Given the description of an element on the screen output the (x, y) to click on. 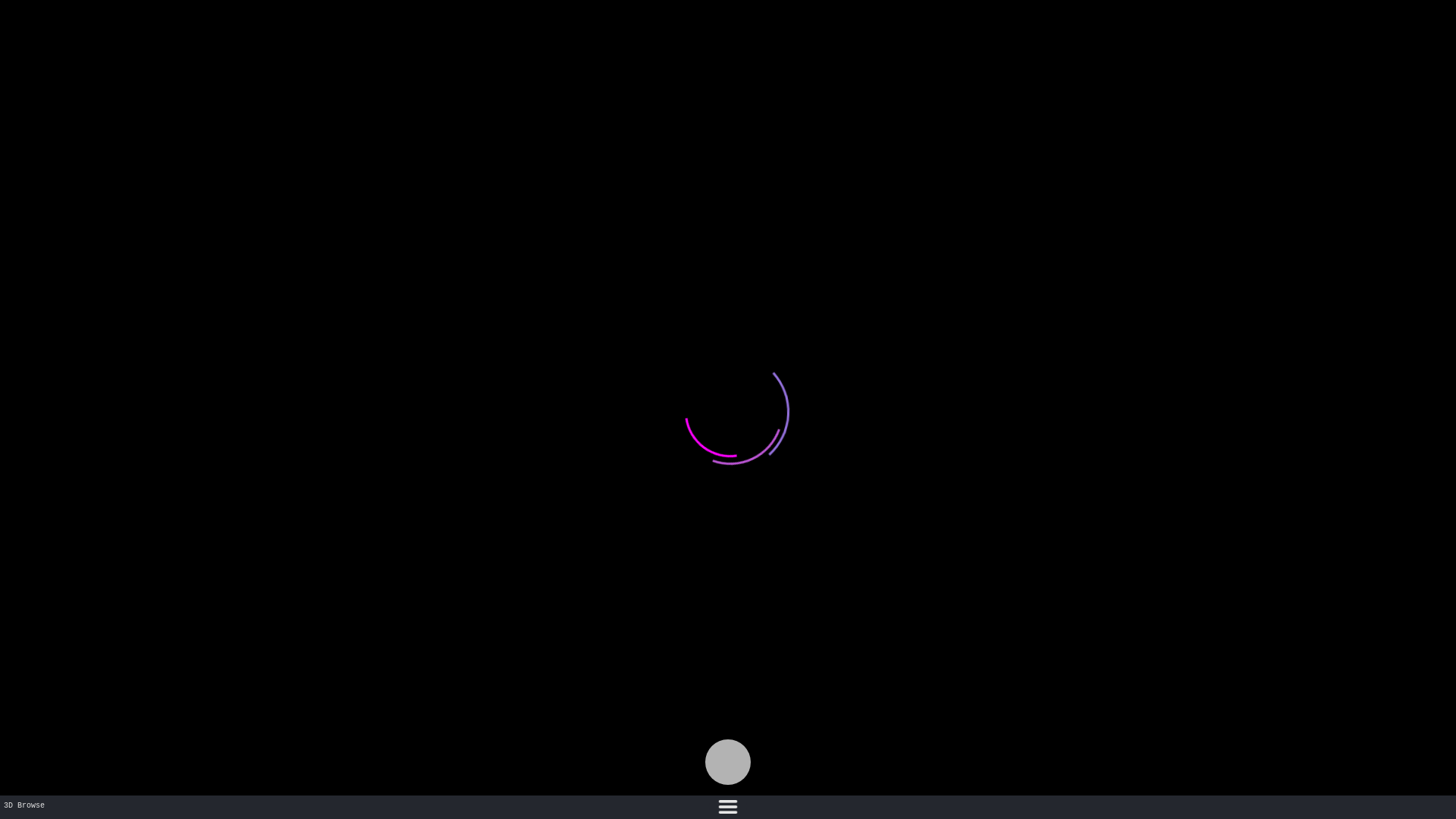
0 Element type: text (727, 761)
0 Element type: text (727, 806)
